Given the description of an element on the screen output the (x, y) to click on. 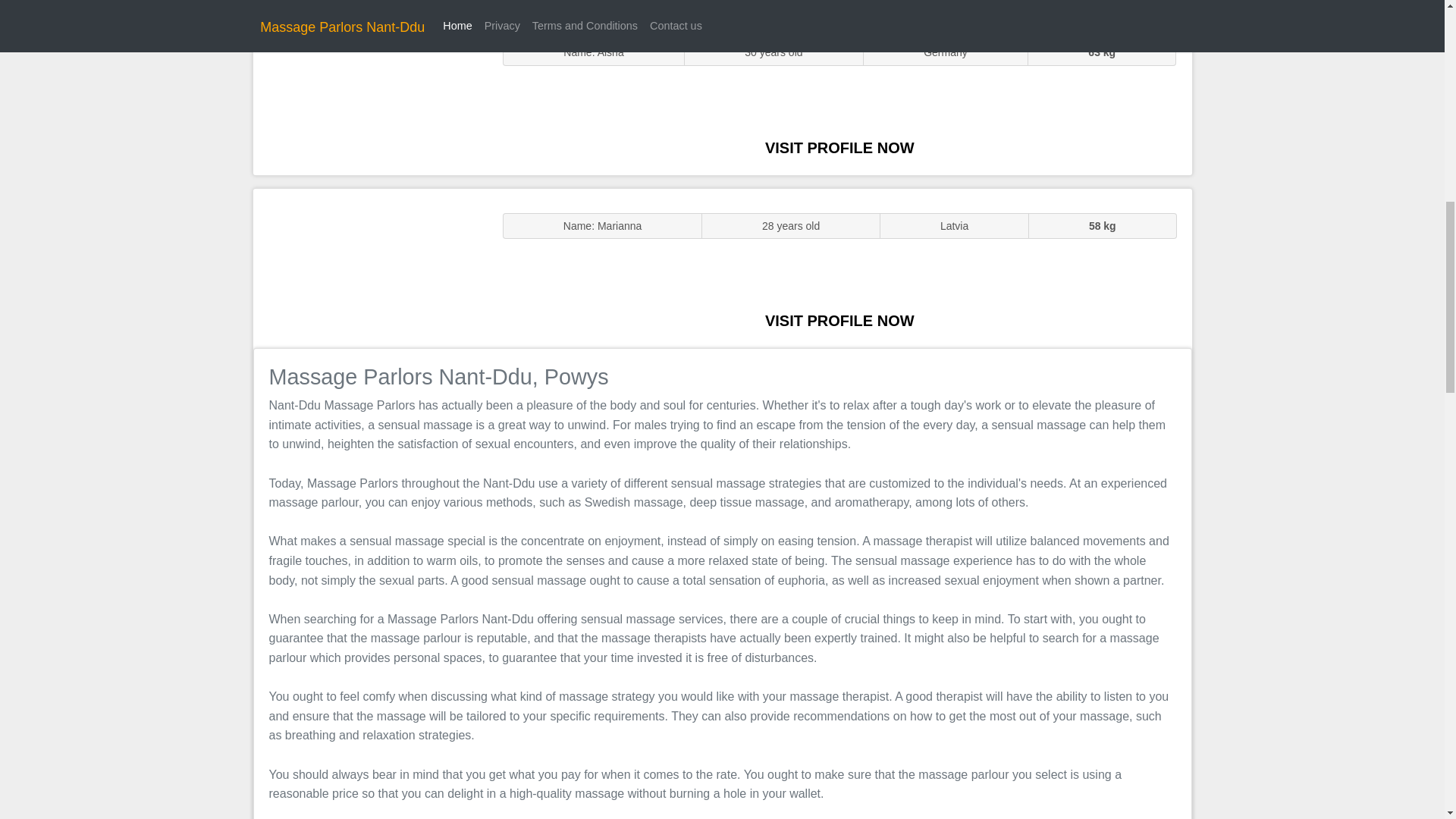
Massage (370, 267)
VISIT PROFILE NOW (839, 320)
Sluts (370, 94)
VISIT PROFILE NOW (839, 147)
